Given the description of an element on the screen output the (x, y) to click on. 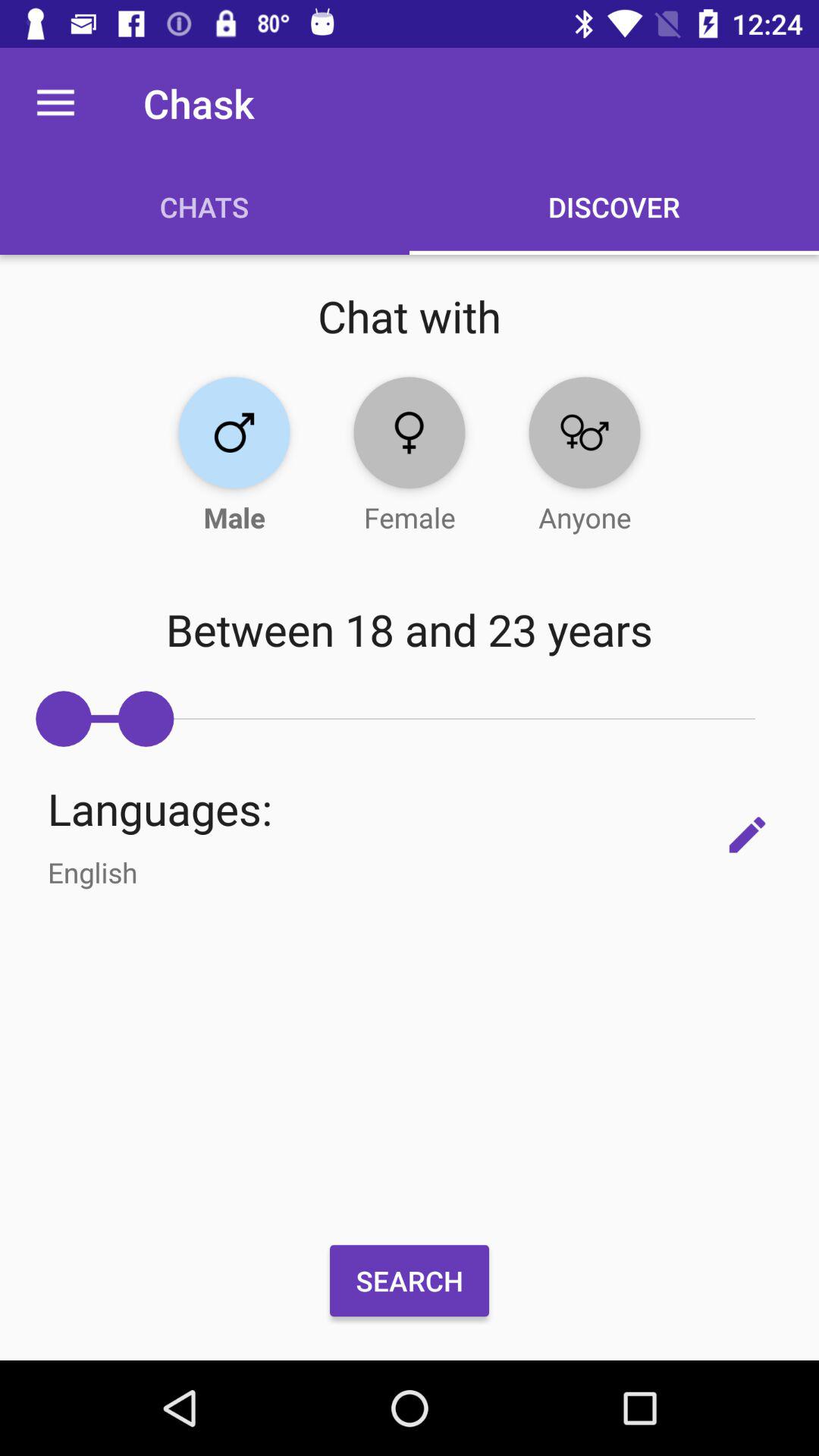
talk to anyone (584, 432)
